Given the description of an element on the screen output the (x, y) to click on. 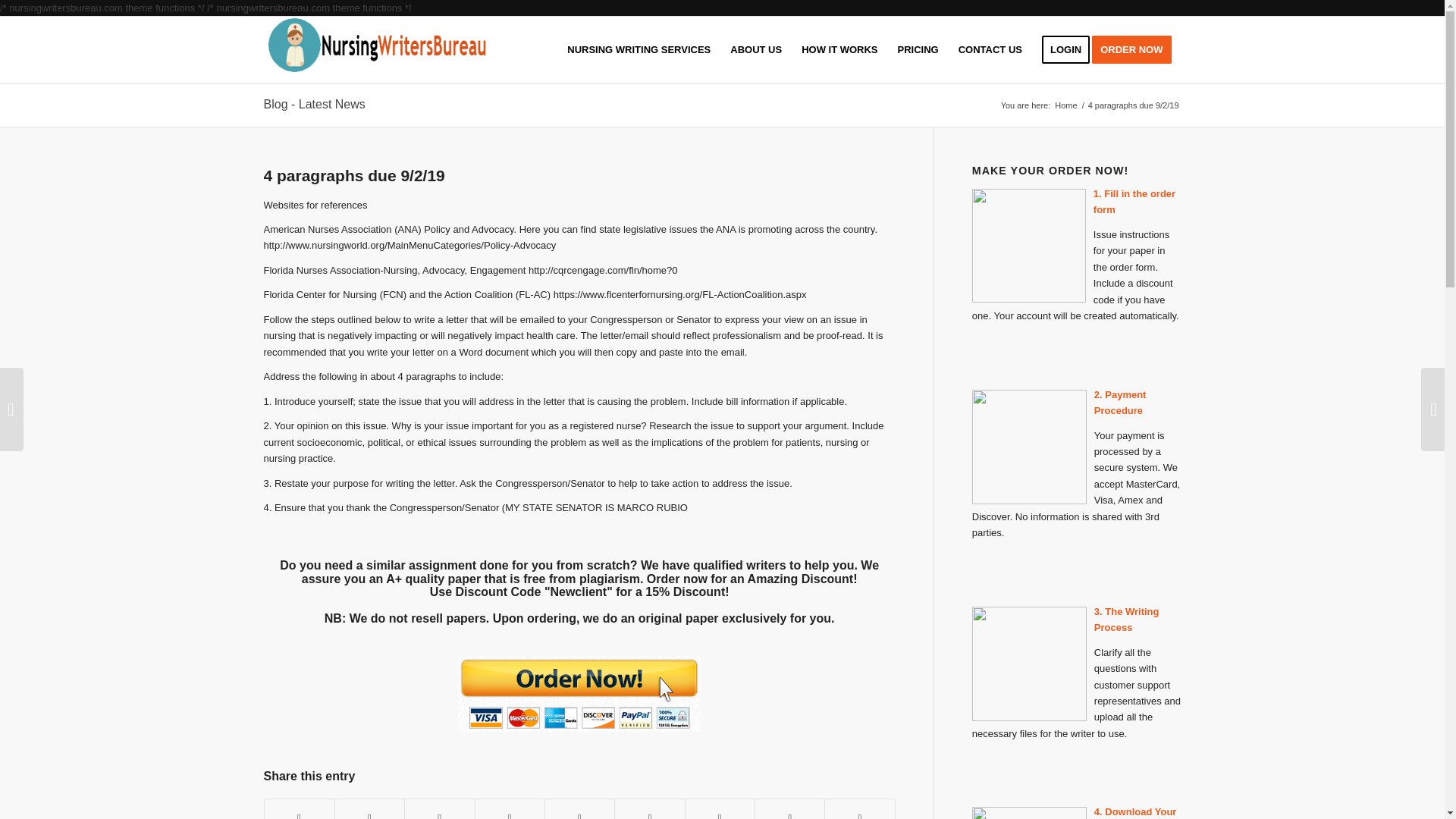
nursingwritersbureau (1065, 105)
Permanent Link: Blog - Latest News (314, 103)
LOGIN (1065, 49)
CONTACT US (990, 49)
HOW IT WORKS (839, 49)
PRICING (918, 49)
ORDER NOW (1136, 49)
Blog - Latest News (314, 103)
NURSING WRITING SERVICES (638, 49)
Home (1065, 105)
